Given the description of an element on the screen output the (x, y) to click on. 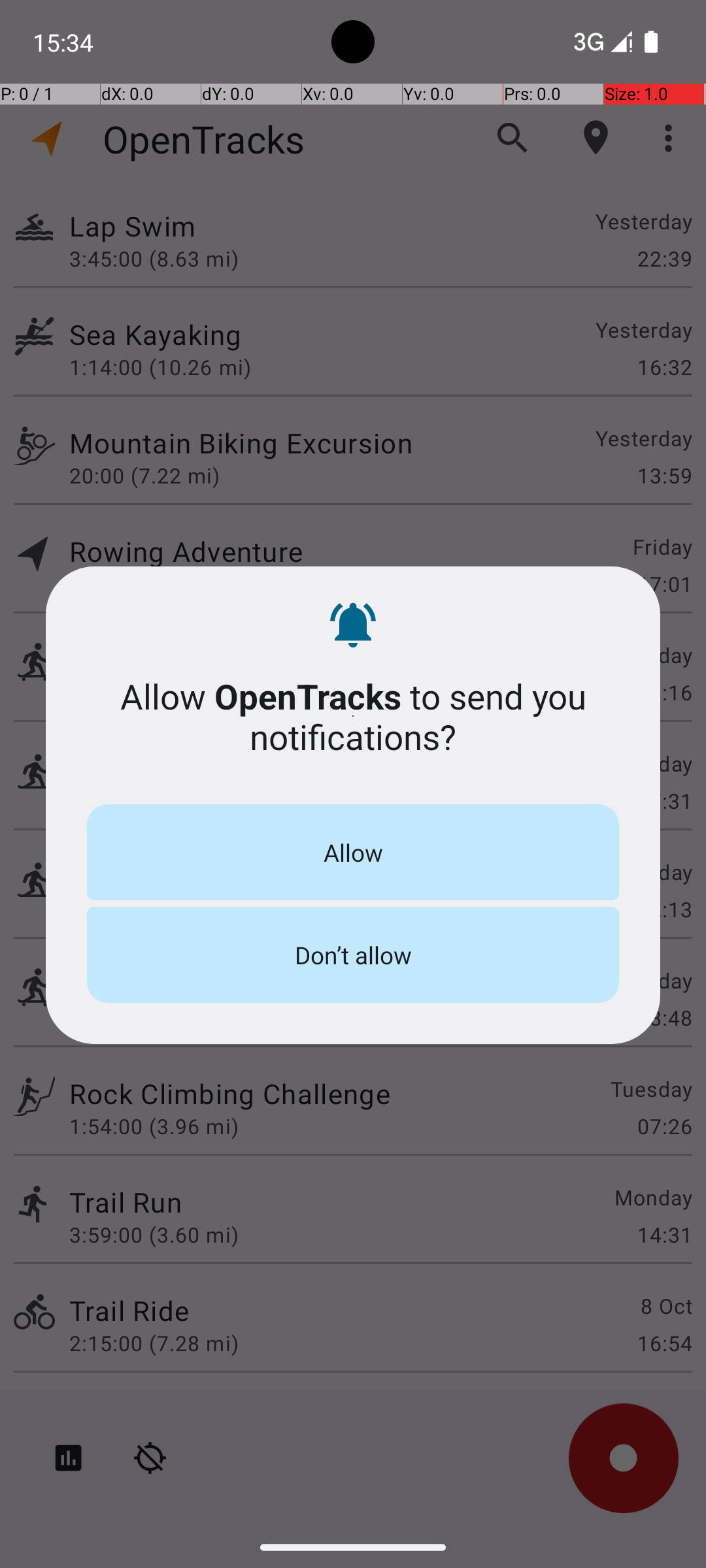
Allow OpenTracks to send you notifications? Element type: android.widget.TextView (352, 715)
Allow Element type: android.widget.Button (352, 852)
